Given the description of an element on the screen output the (x, y) to click on. 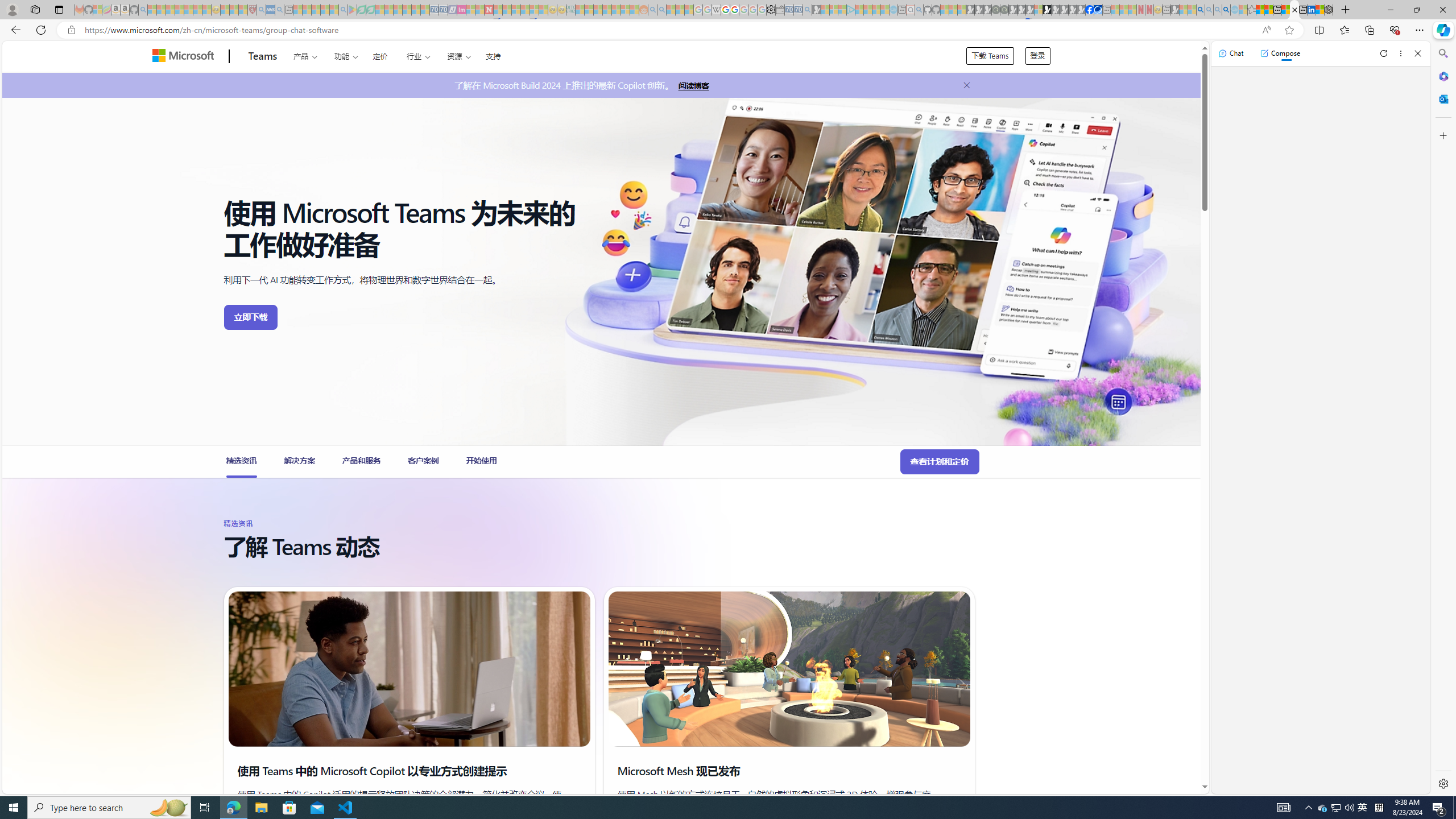
Cheap Hotels - Save70.com - Sleeping (442, 9)
MSN - Sleeping (1174, 9)
